Given the description of an element on the screen output the (x, y) to click on. 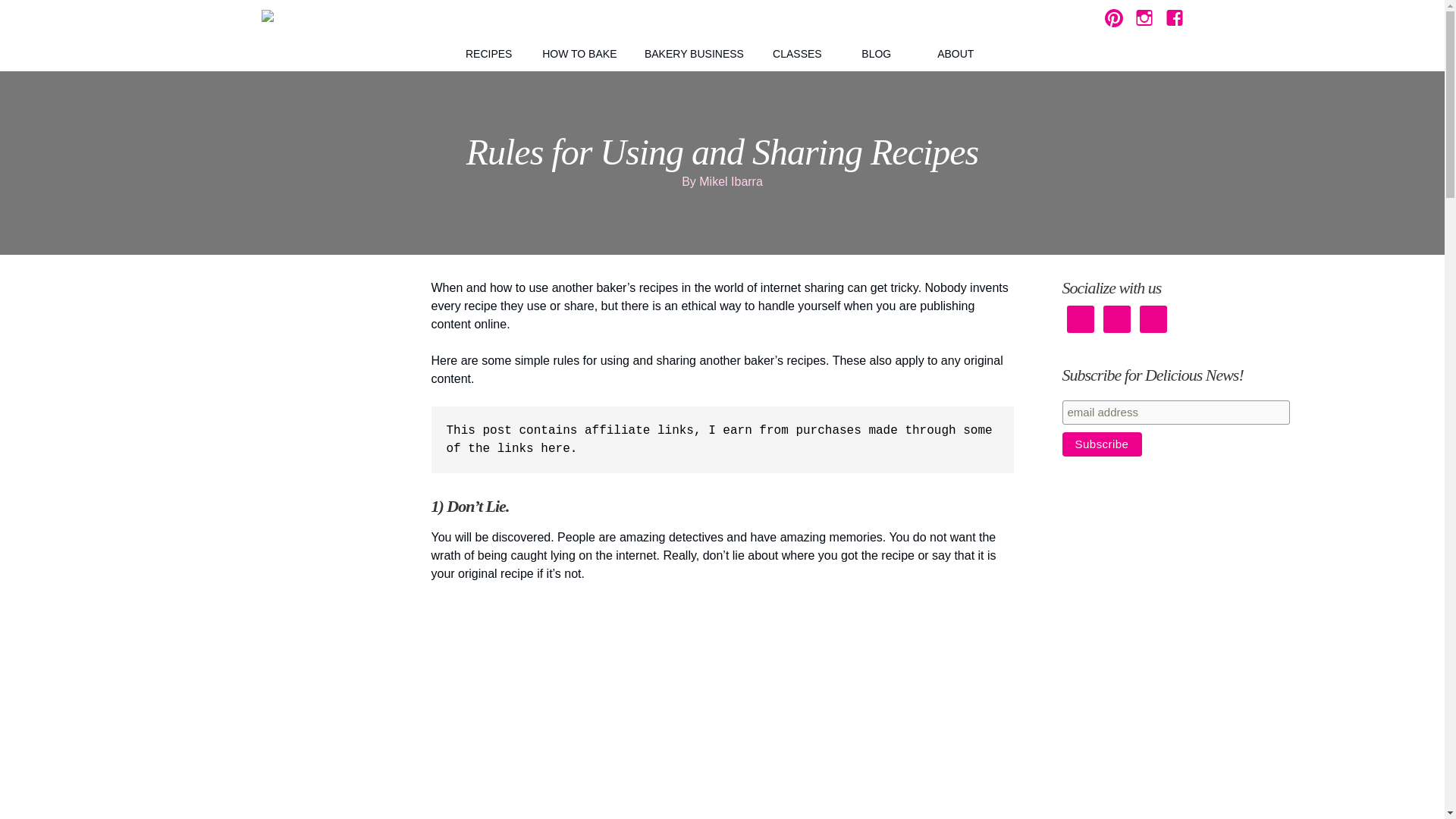
Subscribe (1101, 444)
Sweet Bytes on Instagram (1143, 18)
ABOUT (954, 53)
HOW TO BAKE (578, 53)
BAKERY BUSINESS (693, 53)
Subscribe (1101, 444)
CLASSES (796, 53)
View all posts by Mikel Ibarra (730, 181)
Mikel Ibarra (730, 181)
Sweet Bytes on Pinterest (1112, 18)
